Given the description of an element on the screen output the (x, y) to click on. 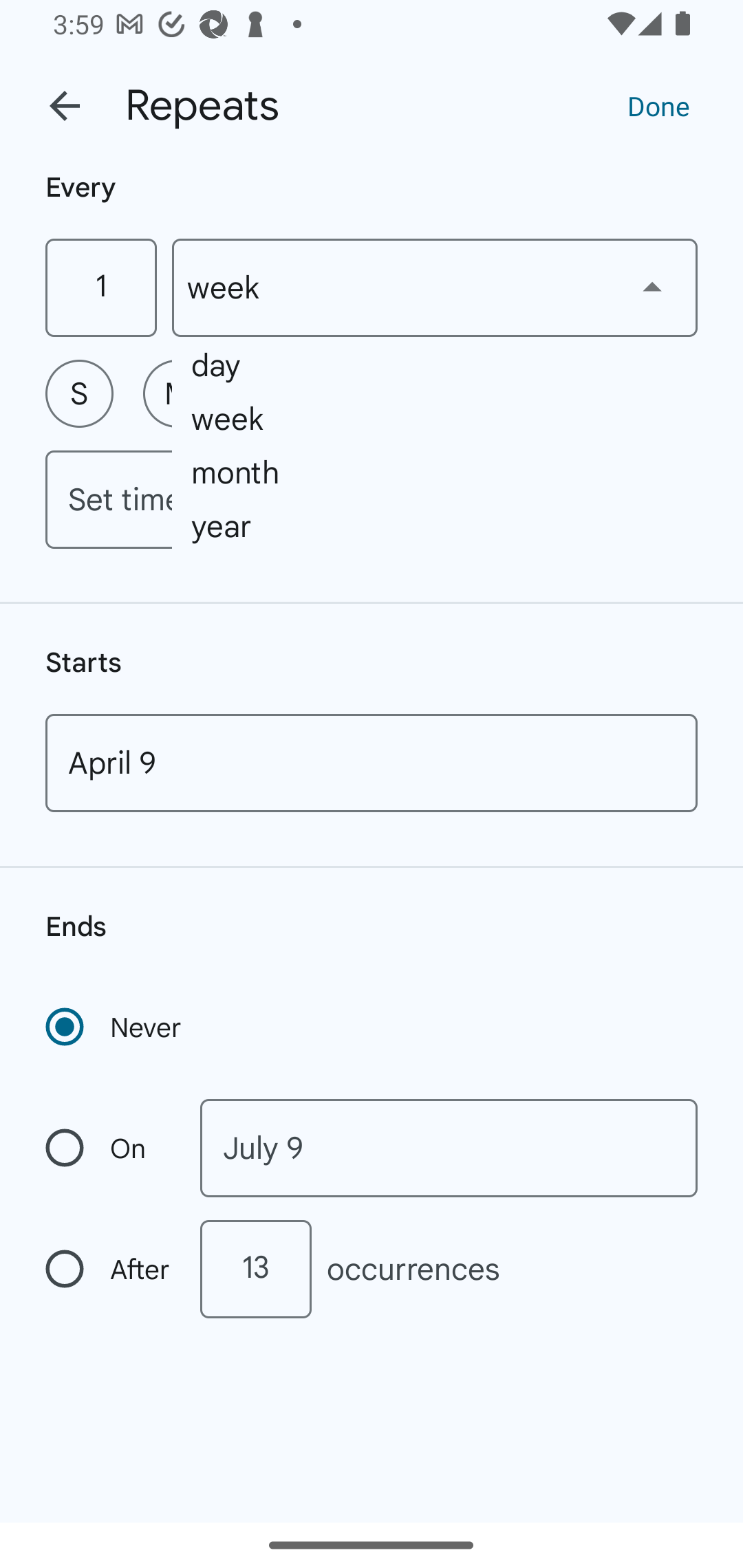
Back (64, 105)
Done (658, 105)
1 (100, 287)
week (434, 287)
Show dropdown menu (652, 286)
S Sunday (79, 393)
Set time (371, 499)
April 9 (371, 762)
Never Recurrence never ends (115, 1026)
July 9 (448, 1148)
On Recurrence ends on a specific date (109, 1148)
13 (255, 1268)
